Given the description of an element on the screen output the (x, y) to click on. 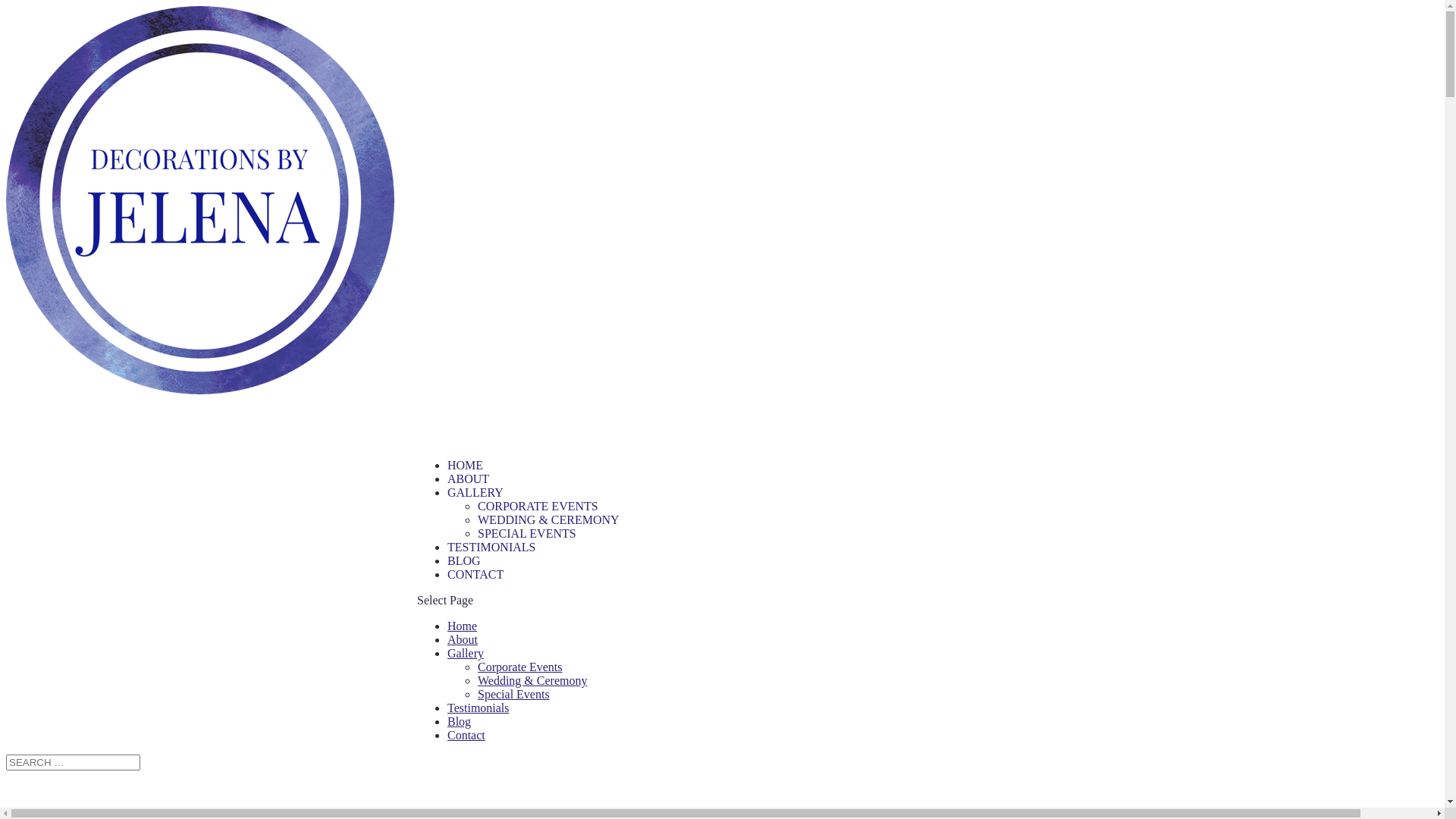
About Element type: text (462, 639)
Contact Element type: text (466, 734)
CORPORATE EVENTS Element type: text (537, 505)
Testimonials Element type: text (478, 707)
Special Events Element type: text (513, 693)
CONTACT Element type: text (475, 598)
Home Element type: text (461, 625)
BLOG Element type: text (463, 585)
TESTIMONIALS Element type: text (491, 571)
Search for: Element type: hover (73, 762)
ABOUT Element type: text (468, 503)
Wedding & Ceremony Element type: text (531, 680)
SPECIAL EVENTS Element type: text (526, 533)
WEDDING & CEREMONY Element type: text (548, 519)
HOME Element type: text (465, 489)
Blog Element type: text (458, 721)
GALLERY Element type: text (475, 517)
Gallery Element type: text (465, 652)
Corporate Events Element type: text (519, 666)
